Given the description of an element on the screen output the (x, y) to click on. 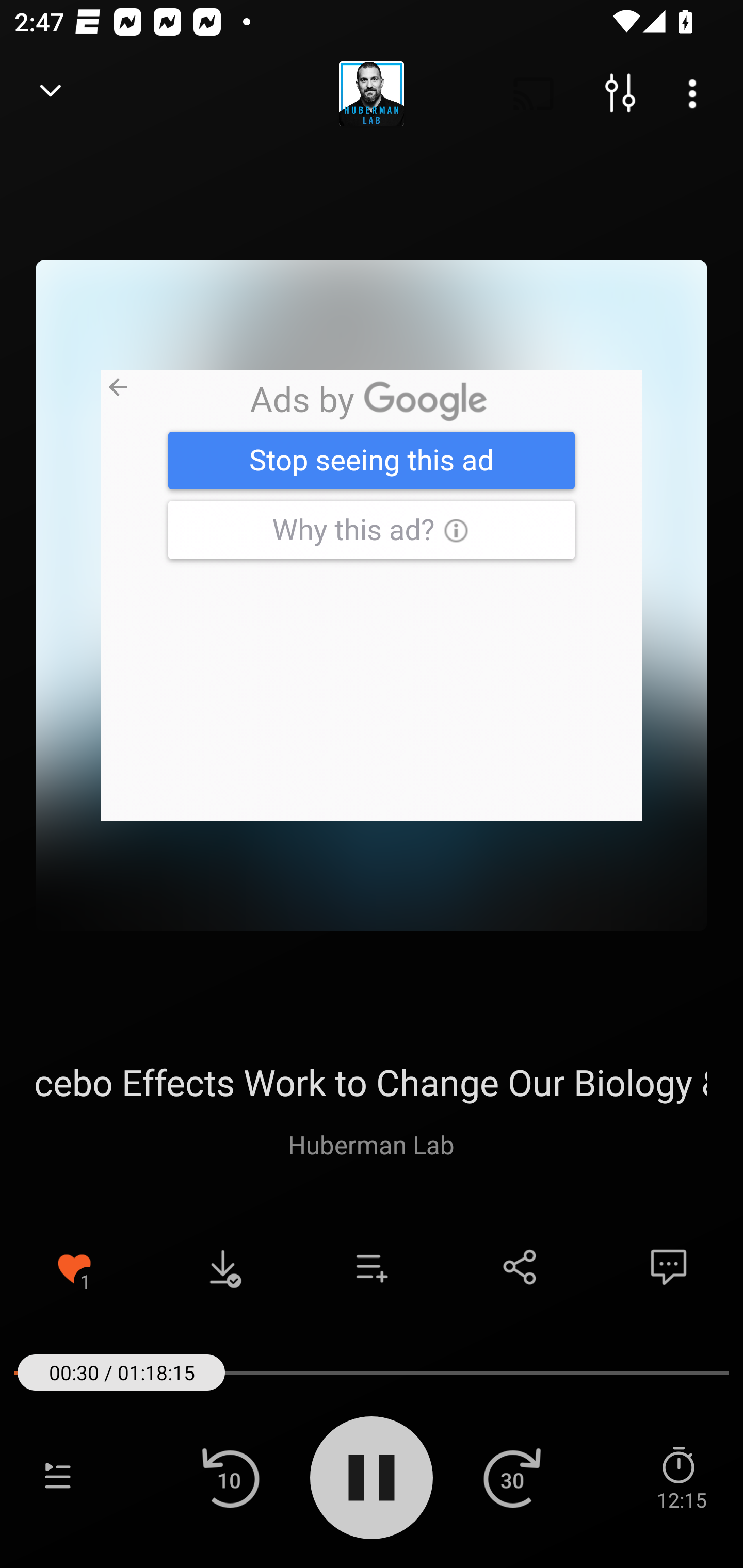
Cast. Disconnected (533, 93)
 Back (50, 94)
Watcher of … Pre-register Pre-register (371, 595)
Huberman Lab (370, 1144)
Comments (668, 1266)
Remove from Favorites (73, 1266)
Add to playlist (371, 1266)
Share (519, 1266)
Sleep Timer  12:15 (681, 1477)
 Playlist (57, 1477)
